Given the description of an element on the screen output the (x, y) to click on. 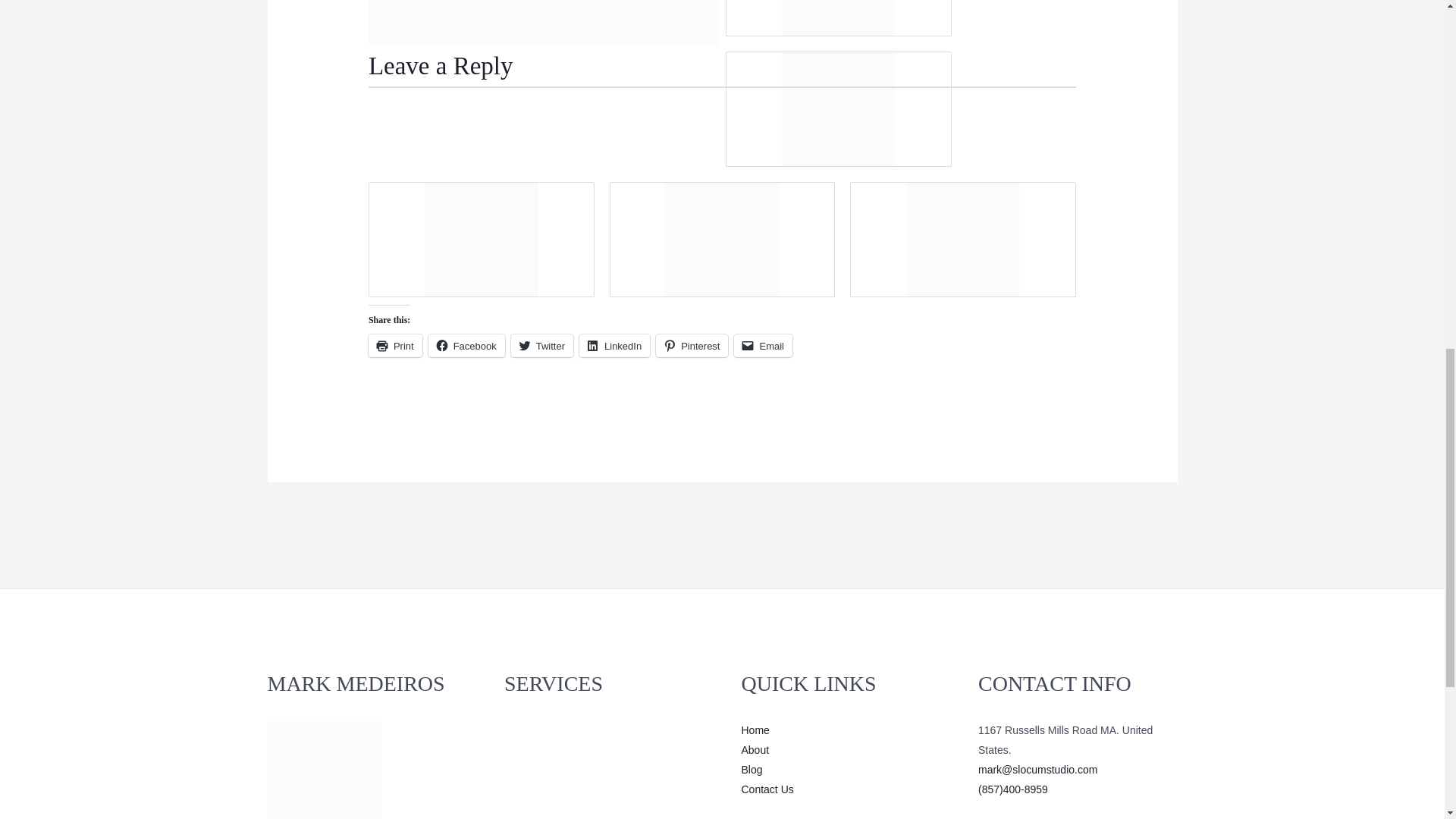
Click to share on LinkedIn (614, 345)
Click to print (395, 345)
Click to share on Facebook (466, 345)
Print (395, 345)
Twitter (542, 345)
Facebook (466, 345)
Click to email a link to a friend (762, 345)
Pinterest (692, 345)
Email (762, 345)
